Given the description of an element on the screen output the (x, y) to click on. 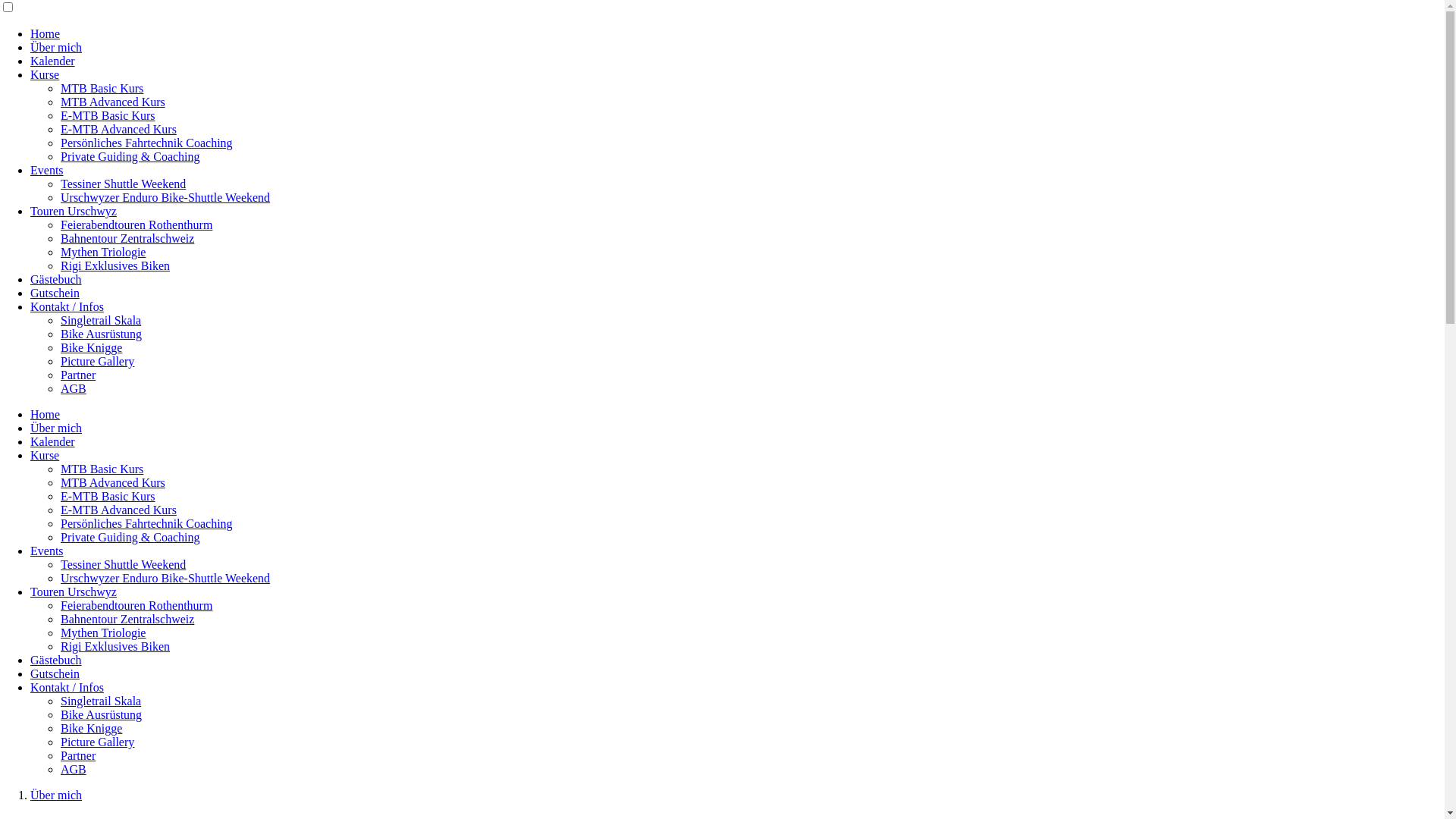
Gutschein Element type: text (54, 673)
Gutschein Element type: text (54, 292)
Touren Urschwyz Element type: text (73, 591)
Events Element type: text (46, 169)
E-MTB Basic Kurs Element type: text (107, 115)
Events Element type: text (46, 550)
Partner Element type: text (77, 755)
E-MTB Advanced Kurs Element type: text (118, 509)
Private Guiding & Coaching Element type: text (130, 536)
E-MTB Basic Kurs Element type: text (107, 495)
Private Guiding & Coaching Element type: text (130, 156)
Rigi Exklusives Biken Element type: text (114, 646)
Kalender Element type: text (52, 60)
Kurse Element type: text (44, 74)
MTB Basic Kurs Element type: text (101, 87)
AGB Element type: text (73, 768)
AGB Element type: text (73, 388)
Bahnentour Zentralschweiz Element type: text (127, 618)
Mythen Triologie Element type: text (102, 632)
Mythen Triologie Element type: text (102, 251)
E-MTB Advanced Kurs Element type: text (118, 128)
Kontakt / Infos Element type: text (66, 306)
Feierabendtouren Rothenthurm Element type: text (136, 224)
Touren Urschwyz Element type: text (73, 210)
Urschwyzer Enduro Bike-Shuttle Weekend Element type: text (164, 577)
MTB Advanced Kurs Element type: text (112, 101)
Tessiner Shuttle Weekend Element type: text (122, 183)
Home Element type: text (44, 33)
Kontakt / Infos Element type: text (66, 686)
MTB Advanced Kurs Element type: text (112, 482)
Feierabendtouren Rothenthurm Element type: text (136, 605)
Bike Knigge Element type: text (91, 347)
Singletrail Skala Element type: text (100, 700)
MTB Basic Kurs Element type: text (101, 468)
Picture Gallery Element type: text (97, 360)
Picture Gallery Element type: text (97, 741)
Home Element type: text (44, 413)
Bahnentour Zentralschweiz Element type: text (127, 238)
Kurse Element type: text (44, 454)
Bike Knigge Element type: text (91, 727)
Rigi Exklusives Biken Element type: text (114, 265)
Partner Element type: text (77, 374)
Kalender Element type: text (52, 441)
Singletrail Skala Element type: text (100, 319)
Urschwyzer Enduro Bike-Shuttle Weekend Element type: text (164, 197)
Tessiner Shuttle Weekend Element type: text (122, 564)
